Given the description of an element on the screen output the (x, y) to click on. 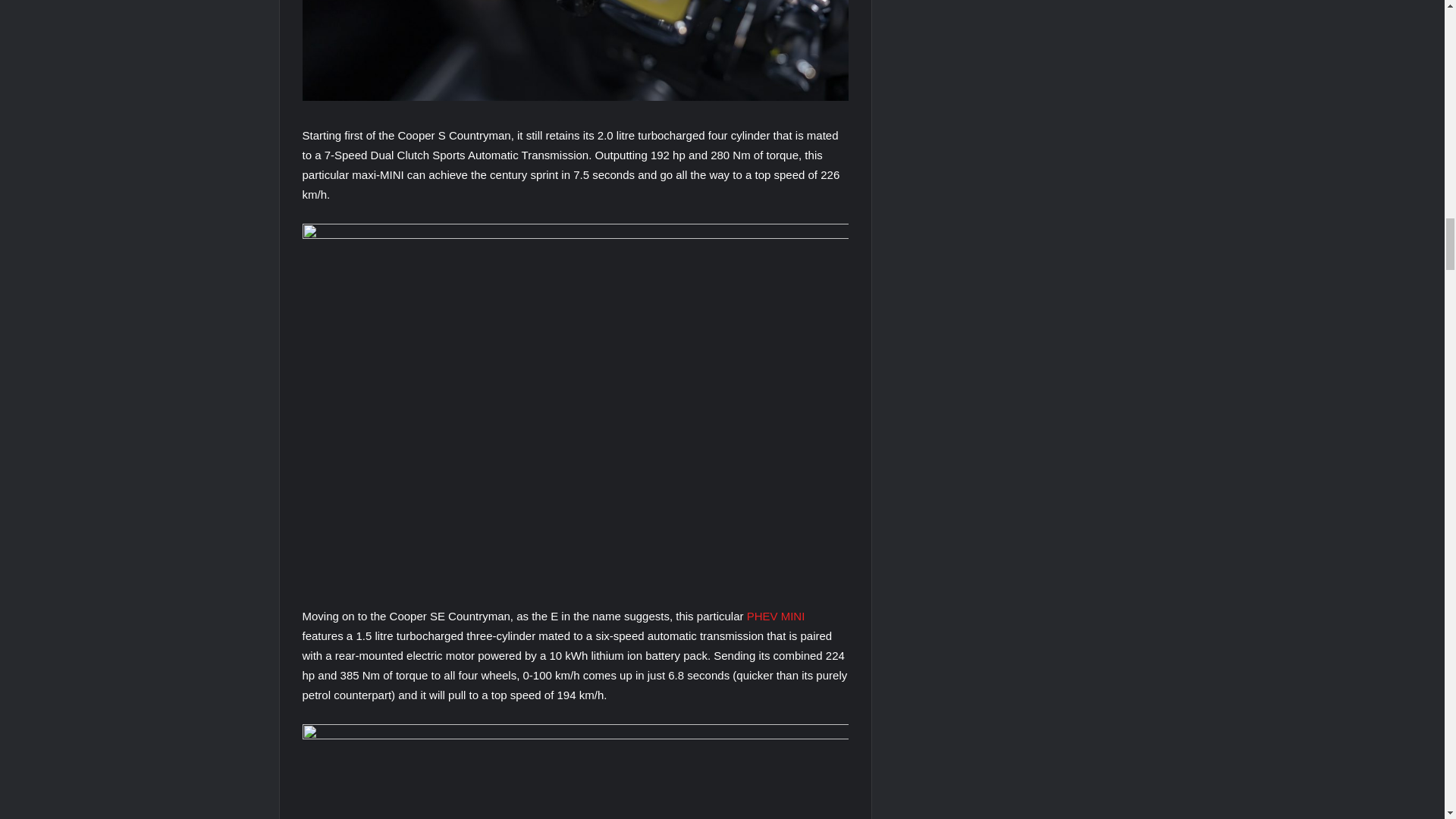
PHEV MINI (775, 615)
